Given the description of an element on the screen output the (x, y) to click on. 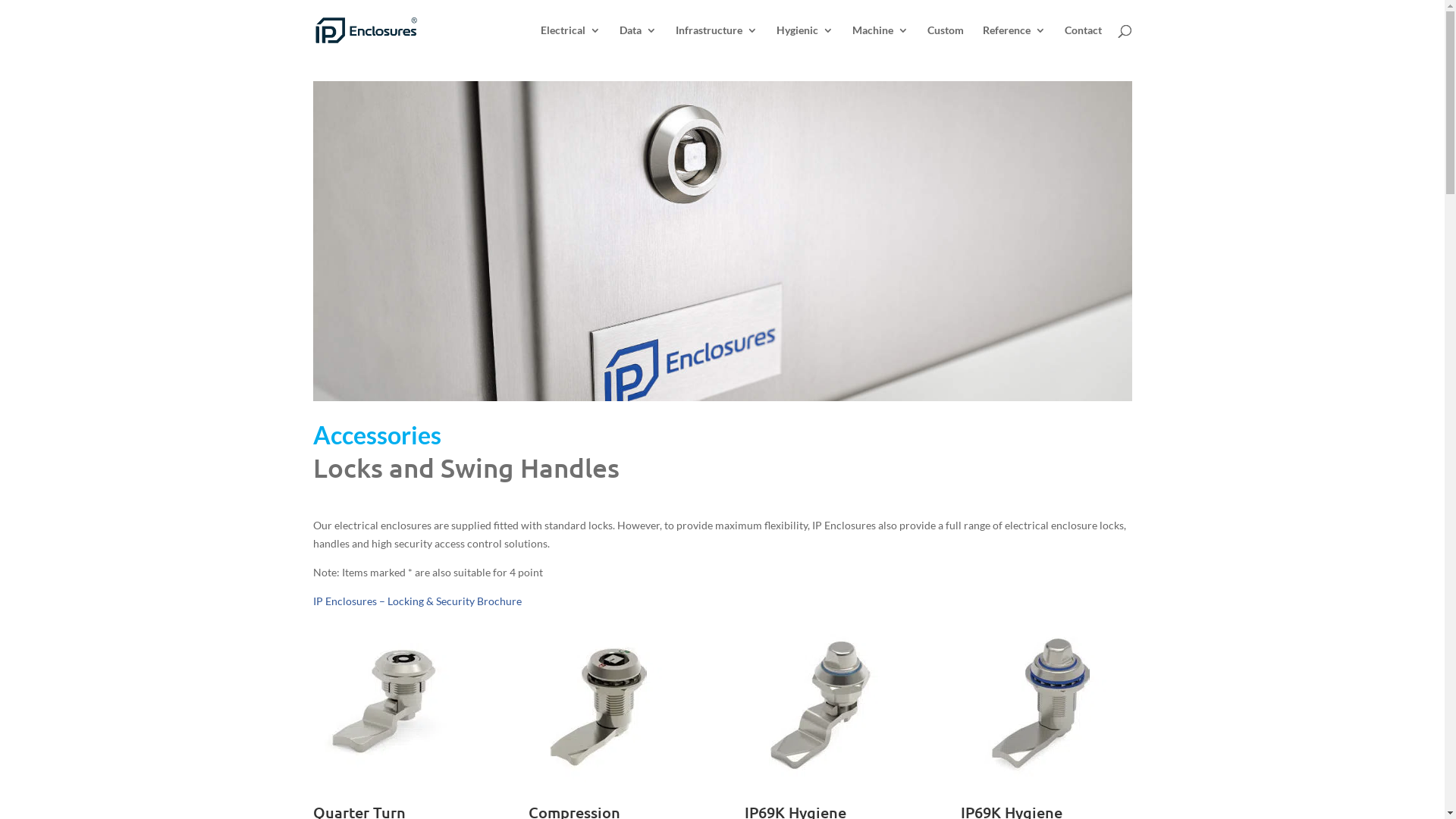
Contact Element type: text (1082, 42)
IP69K-Hygiene=Steel Element type: hover (820, 777)
Data Element type: text (636, 42)
electrical cabinet locking Element type: hover (721, 241)
Infrastructure Element type: text (715, 42)
Machine Element type: text (880, 42)
IP69K-Hygiene-Compression-IP-059---316-Stainless-Steel Element type: hover (1036, 777)
Custom Element type: text (944, 42)
Hygienic Element type: text (804, 42)
Compression IP-L058 - 316 Stainless Steel Element type: hover (604, 777)
Reference Element type: text (1013, 42)
Electrical Element type: text (569, 42)
